Given the description of an element on the screen output the (x, y) to click on. 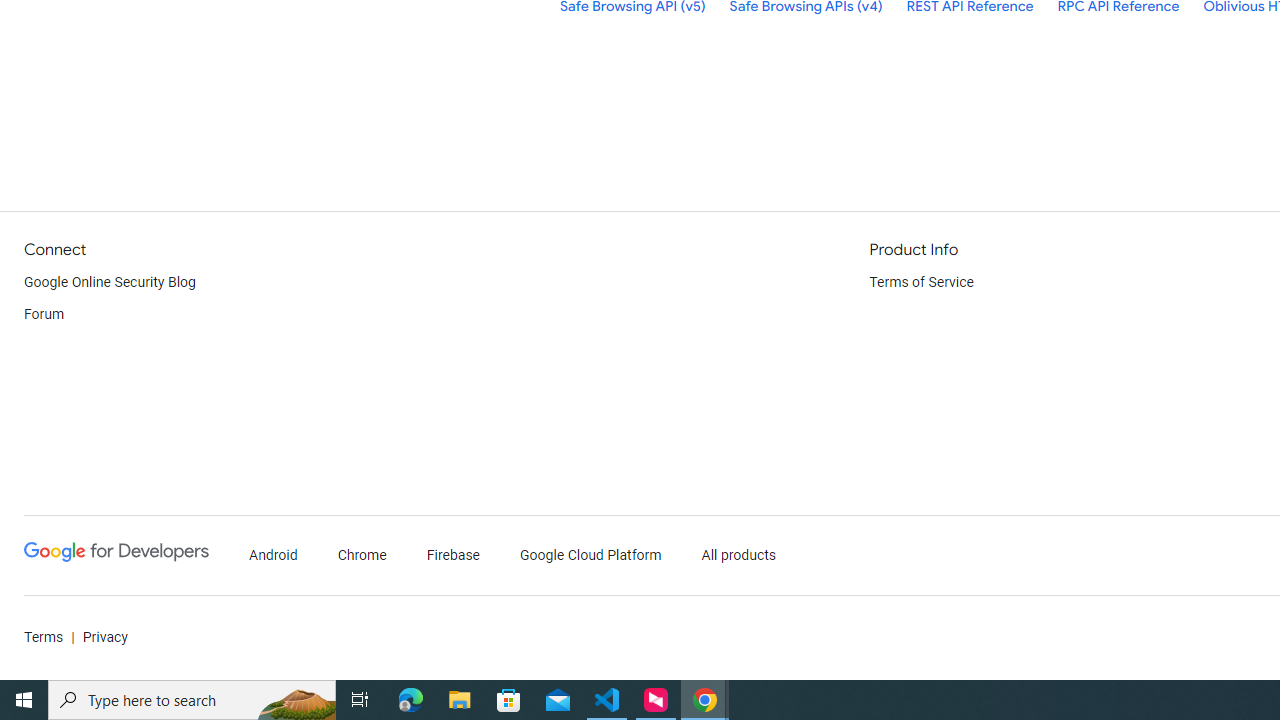
Android (273, 555)
Privacy (104, 637)
Forum (44, 314)
Terms (44, 637)
Terms of Service (921, 282)
Firebase (453, 555)
Google Developers (116, 555)
All products (738, 555)
Google Online Security Blog (109, 282)
Google Developers (116, 551)
Google Cloud Platform (590, 555)
